Given the description of an element on the screen output the (x, y) to click on. 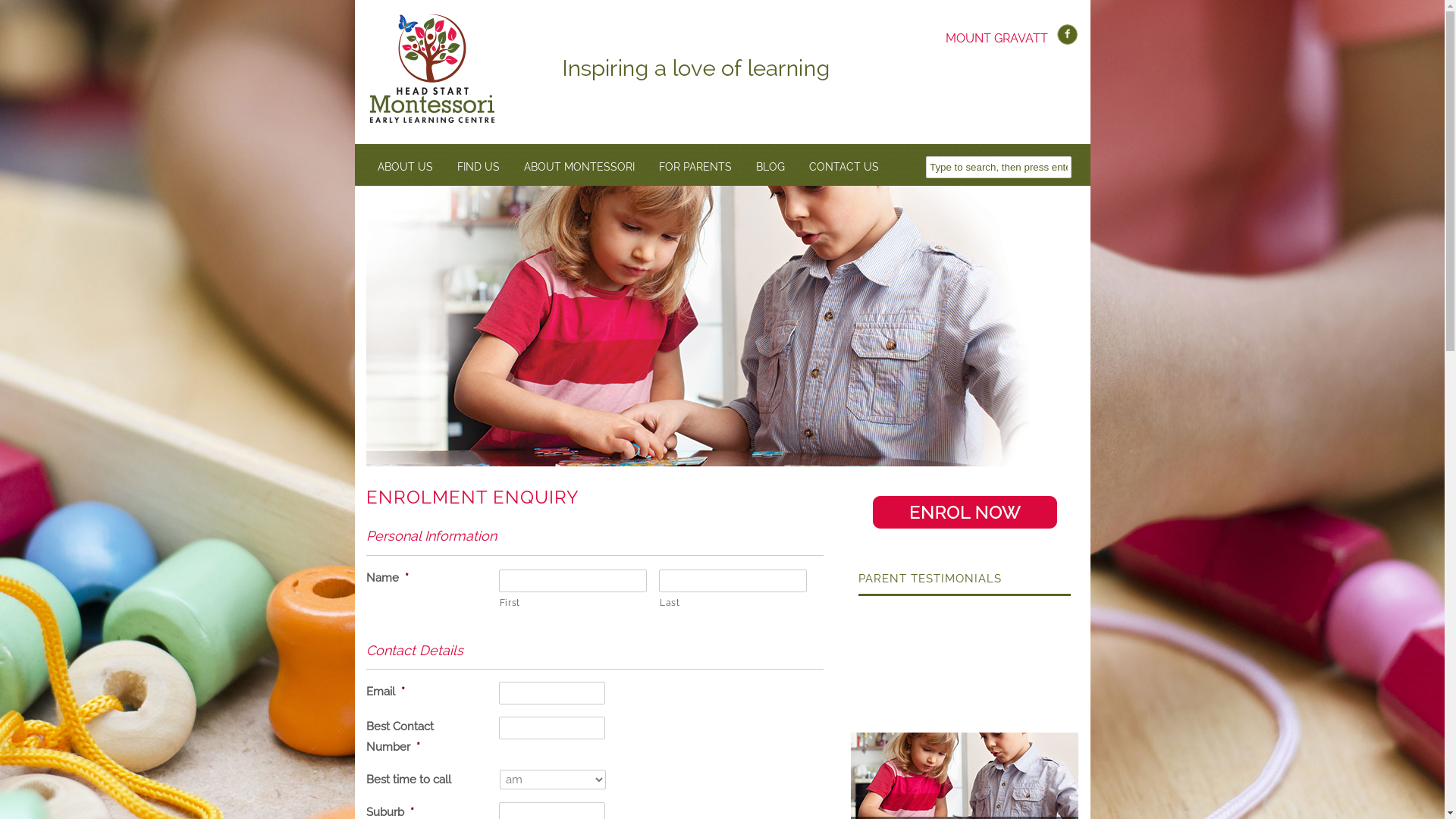
ABOUT MONTESSORI Element type: text (579, 166)
FIND US Element type: text (478, 166)
BLOG Element type: text (770, 166)
Search Element type: text (23, 10)
CONTACT US Element type: text (844, 166)
Type to search, then press enter Element type: text (998, 167)
MOUNT GRAVATT Element type: text (995, 38)
ABOUT US Element type: text (405, 166)
FOR PARENTS Element type: text (695, 166)
